Given the description of an element on the screen output the (x, y) to click on. 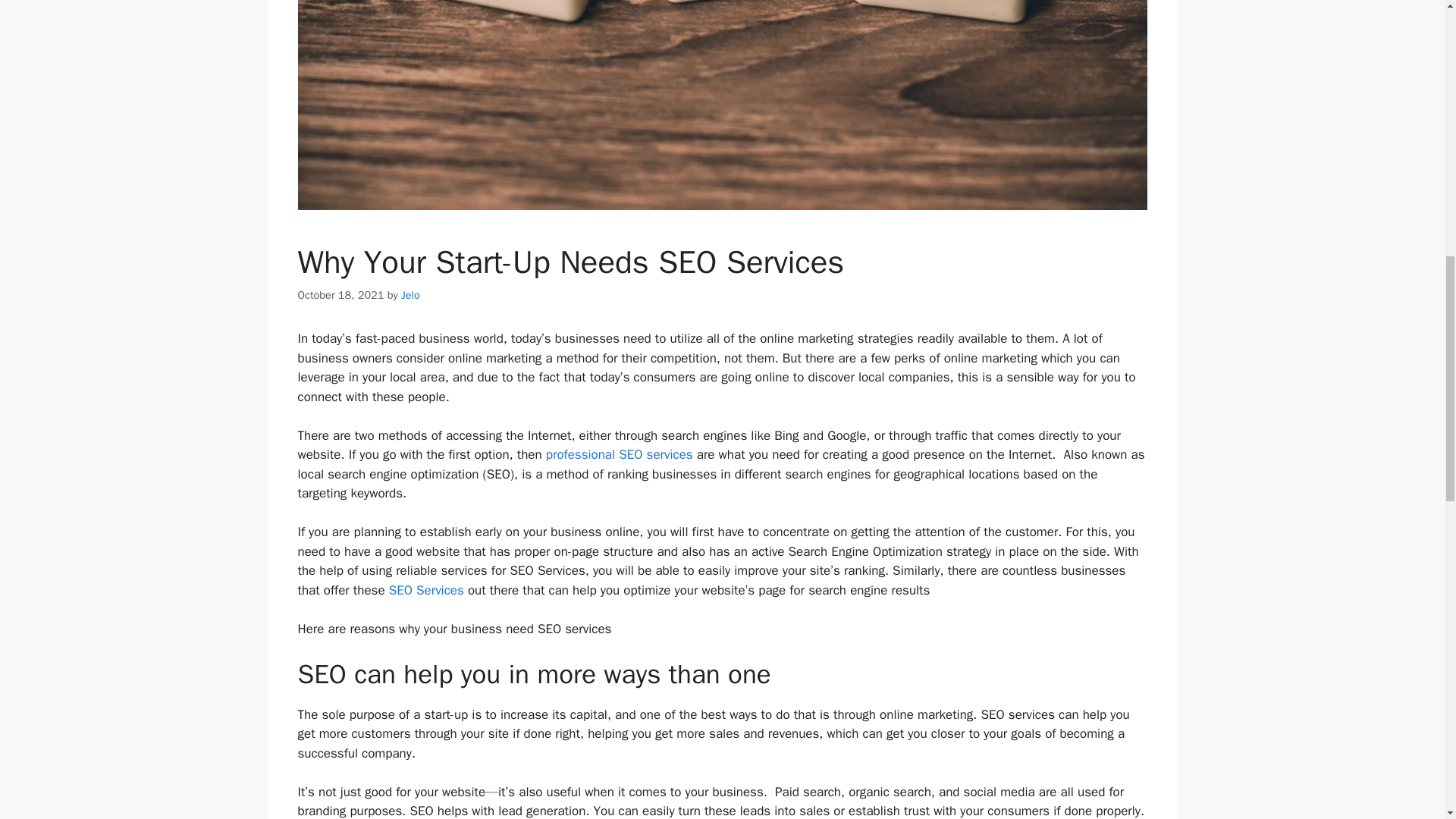
View all posts by Jelo (410, 295)
professional SEO services (619, 454)
Jelo (410, 295)
SEO Services (426, 590)
